Given the description of an element on the screen output the (x, y) to click on. 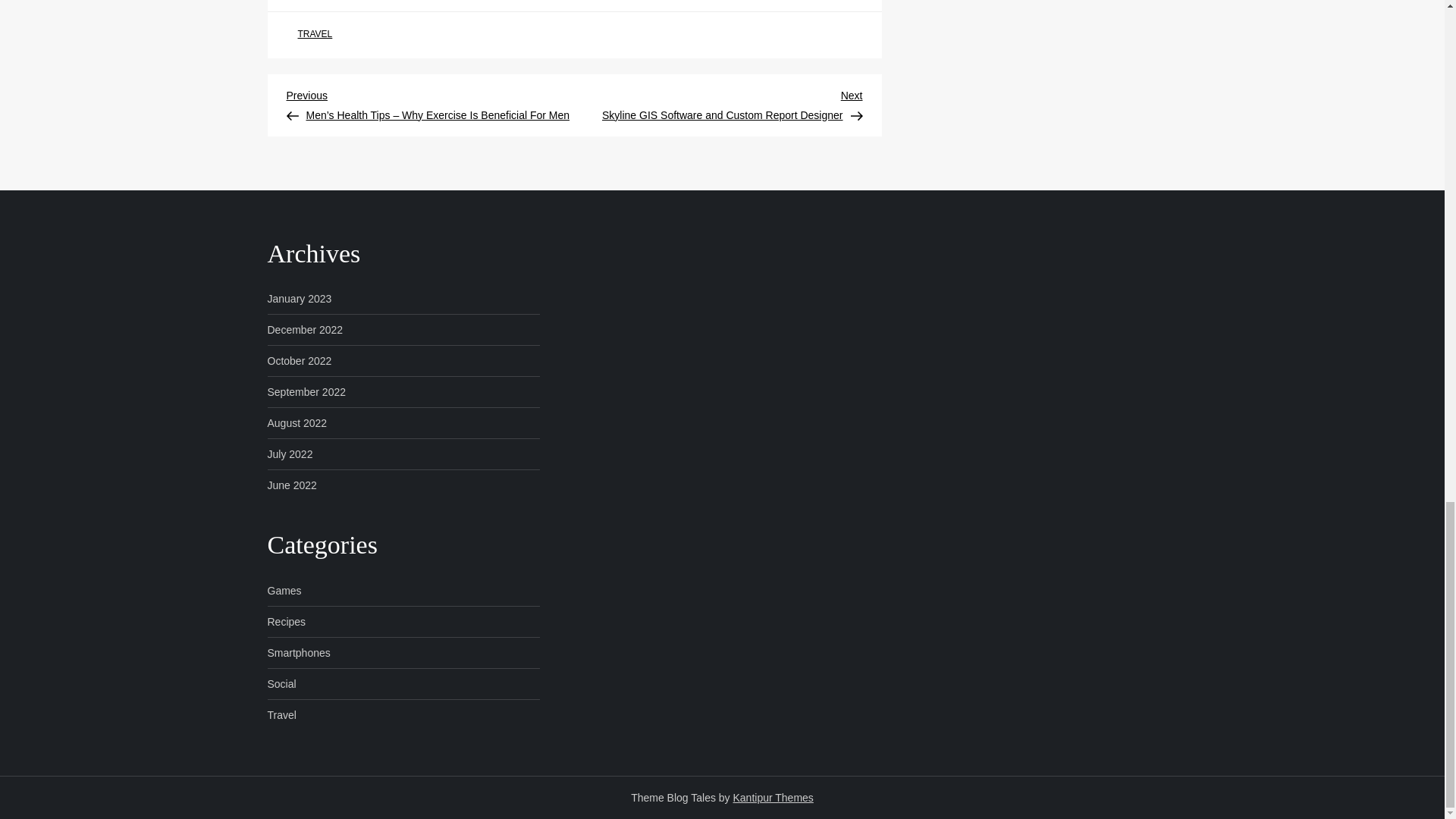
Games (283, 590)
September 2022 (306, 392)
August 2022 (296, 423)
Recipes (285, 621)
TRAVEL (314, 34)
January 2023 (298, 298)
December 2022 (304, 329)
October 2022 (298, 361)
Smartphones (298, 652)
